Given the description of an element on the screen output the (x, y) to click on. 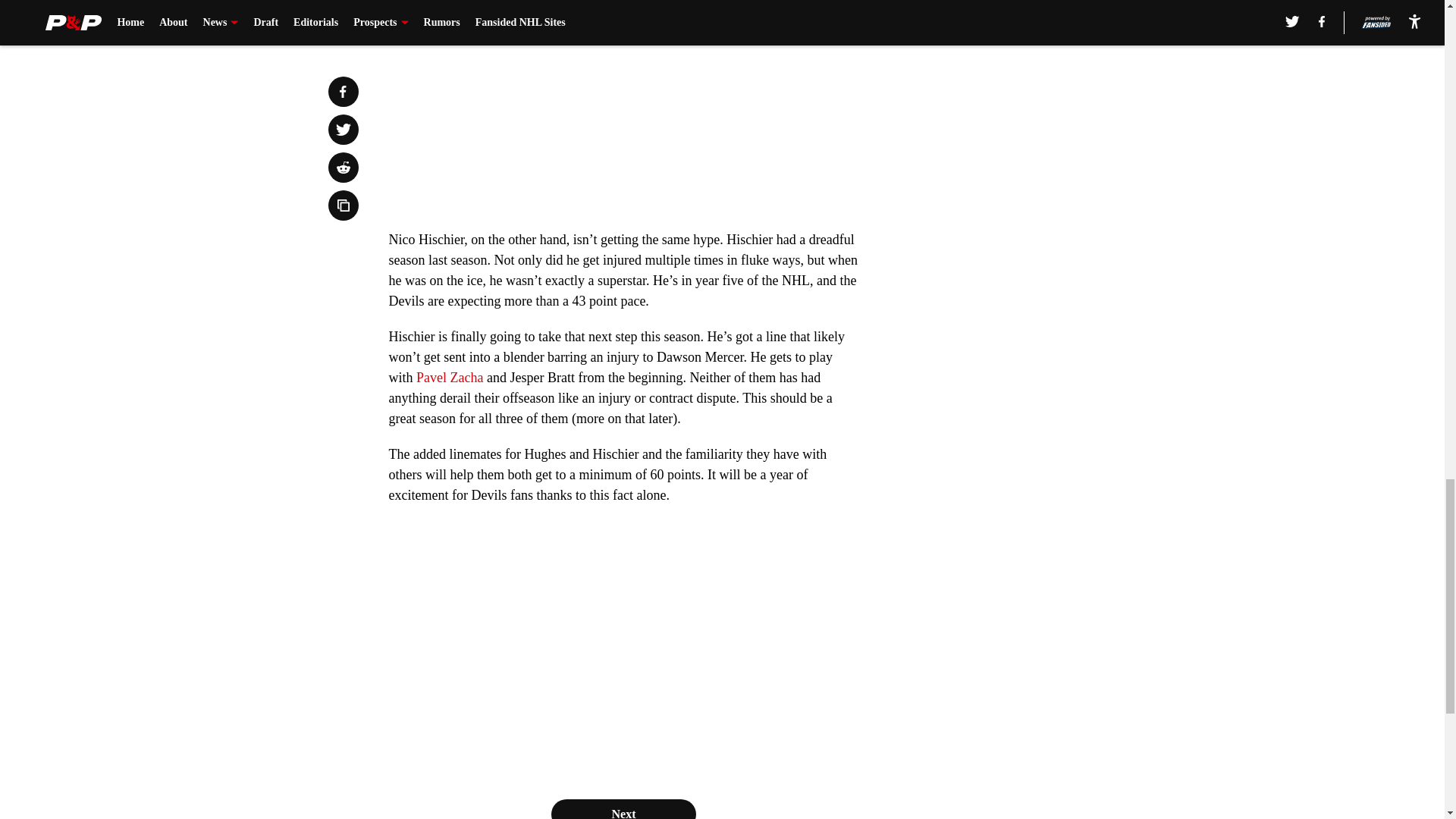
Pavel Zacha (449, 377)
Next (622, 809)
